Given the description of an element on the screen output the (x, y) to click on. 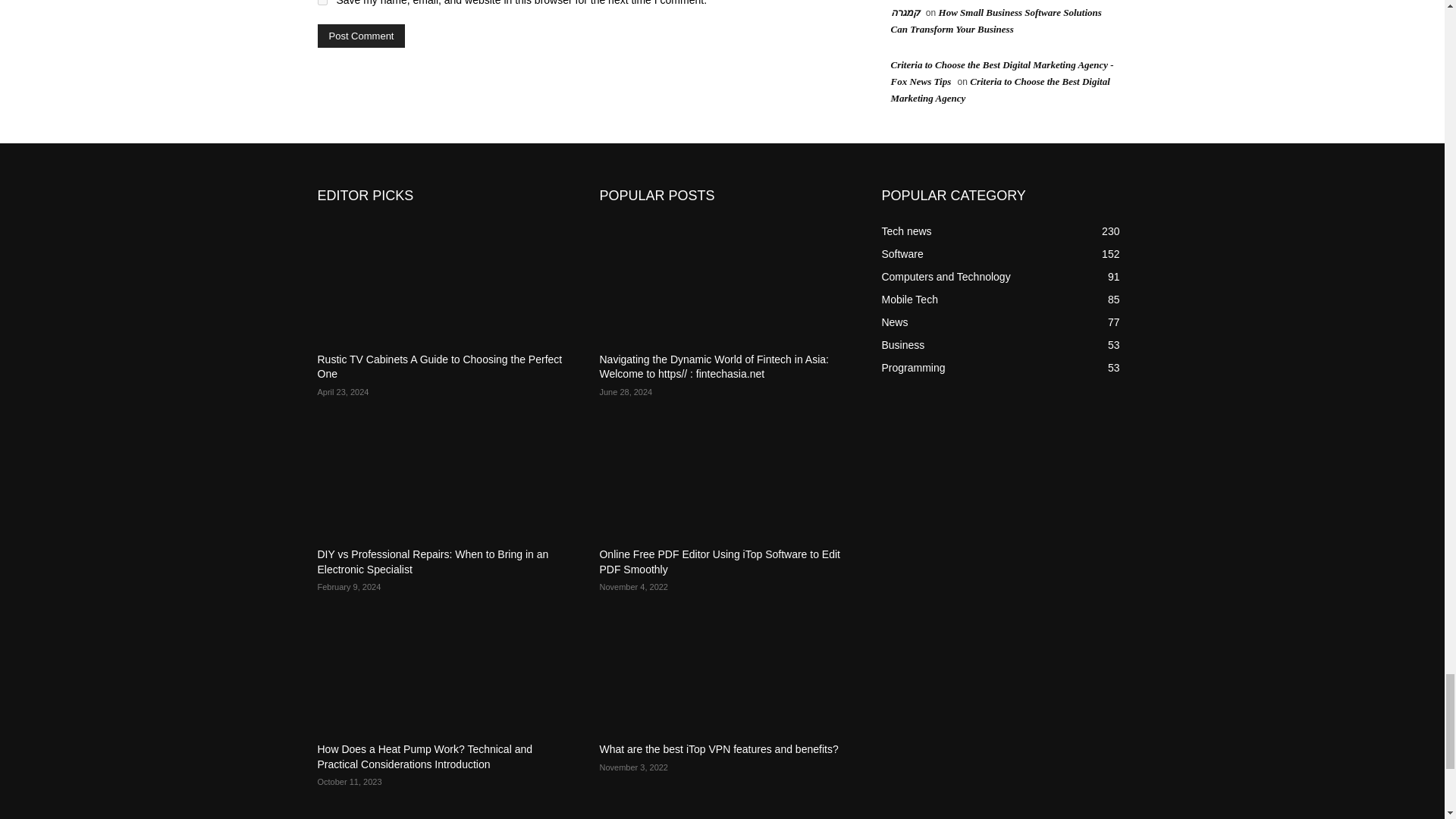
Post Comment (360, 35)
yes (321, 2)
